Given the description of an element on the screen output the (x, y) to click on. 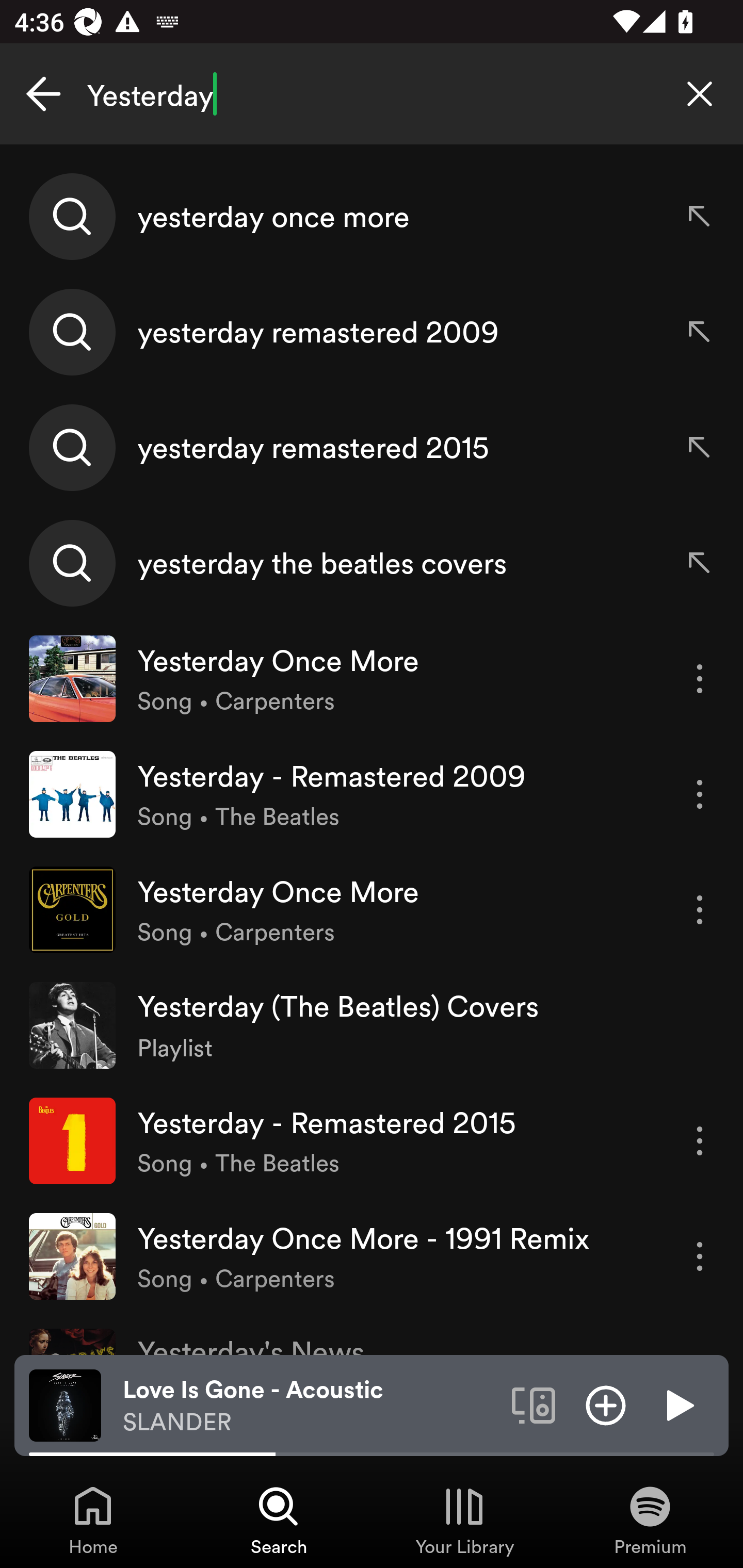
Yesterday (371, 93)
Cancel (43, 93)
Clear search query (699, 93)
yesterday once more (371, 216)
yesterday remastered 2009 (371, 332)
yesterday remastered 2015 (371, 447)
yesterday the beatles covers (371, 562)
More options for song Yesterday Once More (699, 678)
More options for song Yesterday - Remastered 2009 (699, 794)
More options for song Yesterday Once More (699, 910)
Yesterday (The Beatles) Covers Playlist (371, 1025)
More options for song Yesterday - Remastered 2015 (699, 1140)
Love Is Gone - Acoustic SLANDER (309, 1405)
The cover art of the currently playing track (64, 1404)
Connect to a device. Opens the devices menu (533, 1404)
Add item (605, 1404)
Play (677, 1404)
Home, Tab 1 of 4 Home Home (92, 1519)
Search, Tab 2 of 4 Search Search (278, 1519)
Your Library, Tab 3 of 4 Your Library Your Library (464, 1519)
Premium, Tab 4 of 4 Premium Premium (650, 1519)
